Given the description of an element on the screen output the (x, y) to click on. 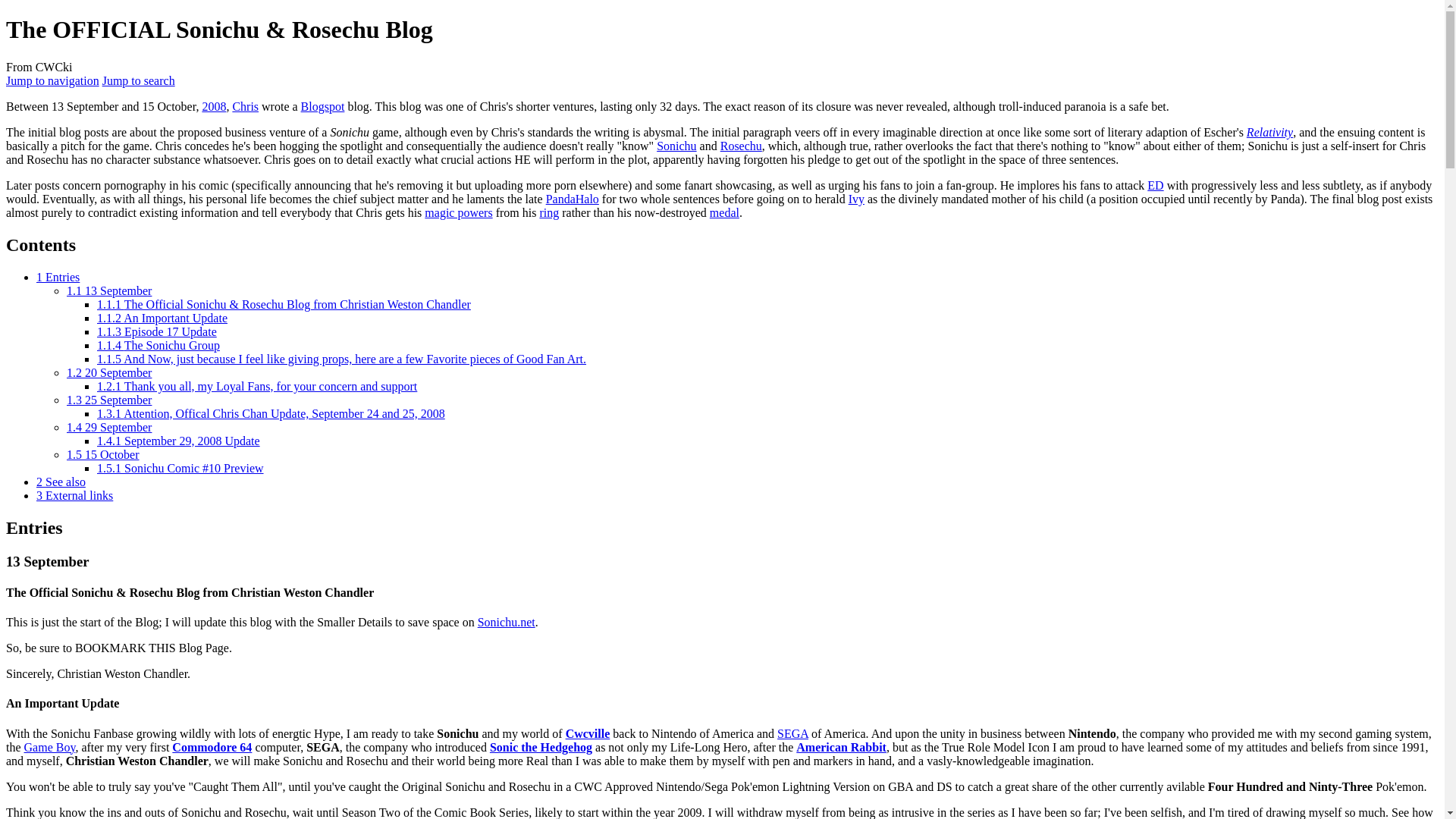
Rosechu (740, 145)
1 Entries (58, 277)
Cwcville (588, 733)
Sonic the Hedgehog (540, 747)
2 See also (60, 481)
1.4.1 September 29, 2008 Update (178, 440)
1.4 29 September (108, 427)
Jump to navigation (52, 80)
Commodore 64 (211, 747)
Game Boy (49, 747)
Game Boy (49, 747)
1.1 13 September (108, 290)
Sonic the Hedgehog (540, 747)
magic powers (458, 212)
1.5 15 October (102, 454)
